Given the description of an element on the screen output the (x, y) to click on. 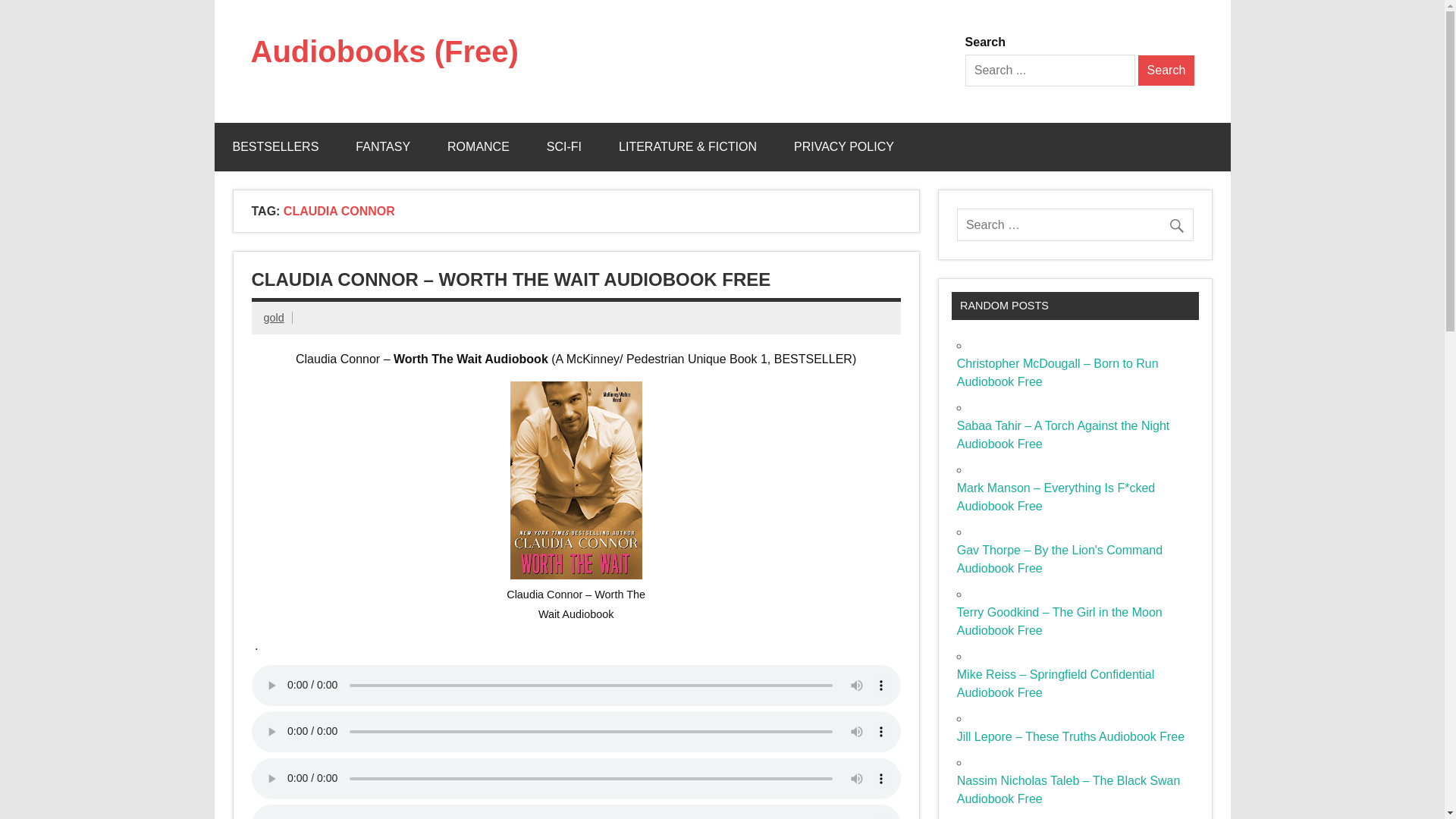
PRIVACY POLICY (844, 146)
Search ... (1050, 70)
BESTSELLERS (275, 146)
Search (1165, 70)
FANTASY (382, 146)
gold (273, 317)
Search (1165, 70)
View all posts by gold (273, 317)
SCI-FI (563, 146)
ROMANCE (478, 146)
Search (1165, 70)
